Given the description of an element on the screen output the (x, y) to click on. 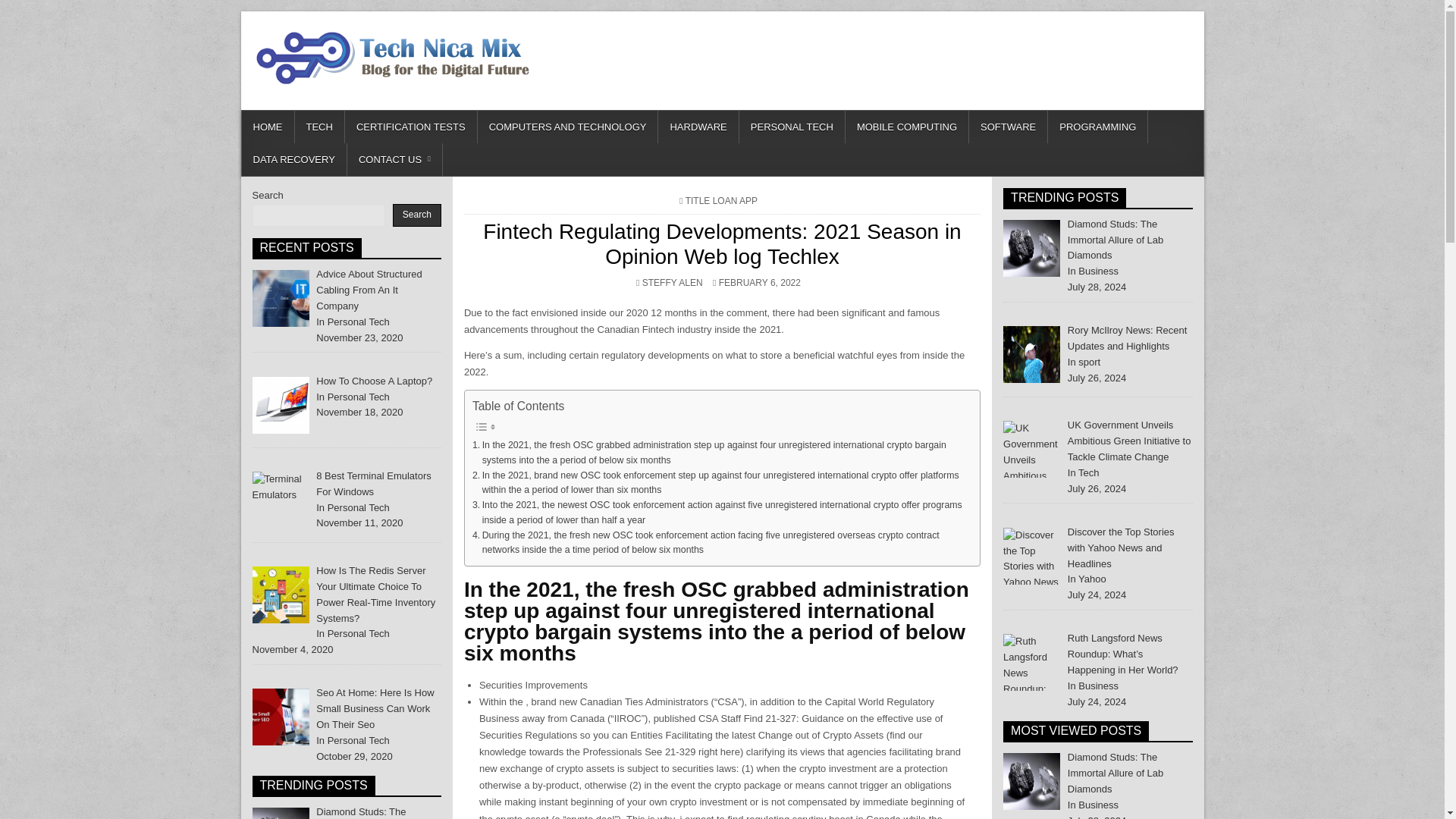
Diamond Studs: The Immortal Allure of Lab Diamonds (363, 812)
Small Business (279, 716)
Advice About Structured Cabling From An It Company (279, 298)
TECH (318, 126)
SOFTWARE (1008, 126)
DATA RECOVERY (293, 159)
PERSONAL TECH (792, 126)
MOBILE COMPUTING (907, 126)
Terminal Emulators (279, 499)
COMPUTERS AND TECHNOLOGY (568, 126)
CONTACT US (394, 159)
Advice About Structured Cabling From An It Company (368, 290)
